Given the description of an element on the screen output the (x, y) to click on. 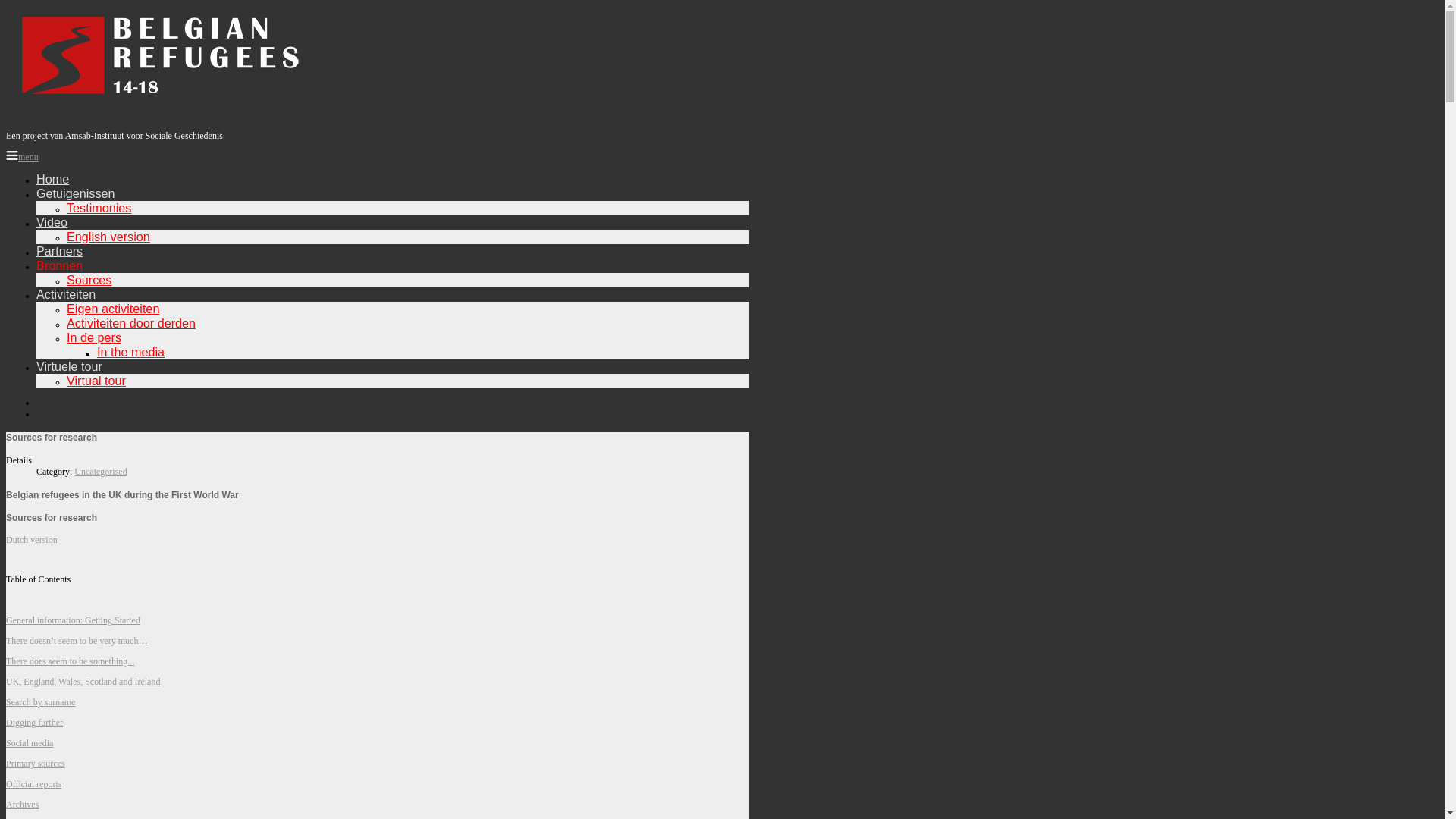
Primary sources Element type: text (35, 763)
Partners Element type: text (59, 250)
Activiteiten door derden Element type: text (130, 322)
Archives Element type: text (22, 804)
Official reports Element type: text (33, 783)
Virtual tour Element type: text (95, 380)
In de pers Element type: text (93, 337)
Eigen activiteiten Element type: text (112, 308)
UK, England, Wales, Scotland and Ireland Element type: text (83, 681)
Testimonies Element type: text (98, 207)
Home Element type: text (52, 178)
Uncategorised Element type: text (100, 471)
Sources Element type: text (88, 279)
Virtuele tour Element type: text (69, 366)
There does seem to be something... Element type: text (70, 660)
Video Element type: text (51, 222)
Search by surname Element type: text (40, 701)
Bronnen Element type: text (59, 265)
Activiteiten Element type: text (65, 294)
Social media Element type: text (29, 742)
Getuigenissen Element type: text (75, 193)
Digging further Element type: text (34, 722)
Dutch version Element type: text (31, 539)
In the media Element type: text (130, 351)
English version Element type: text (108, 236)
menu Element type: text (22, 156)
General information: Getting Started Element type: text (73, 620)
